Given the description of an element on the screen output the (x, y) to click on. 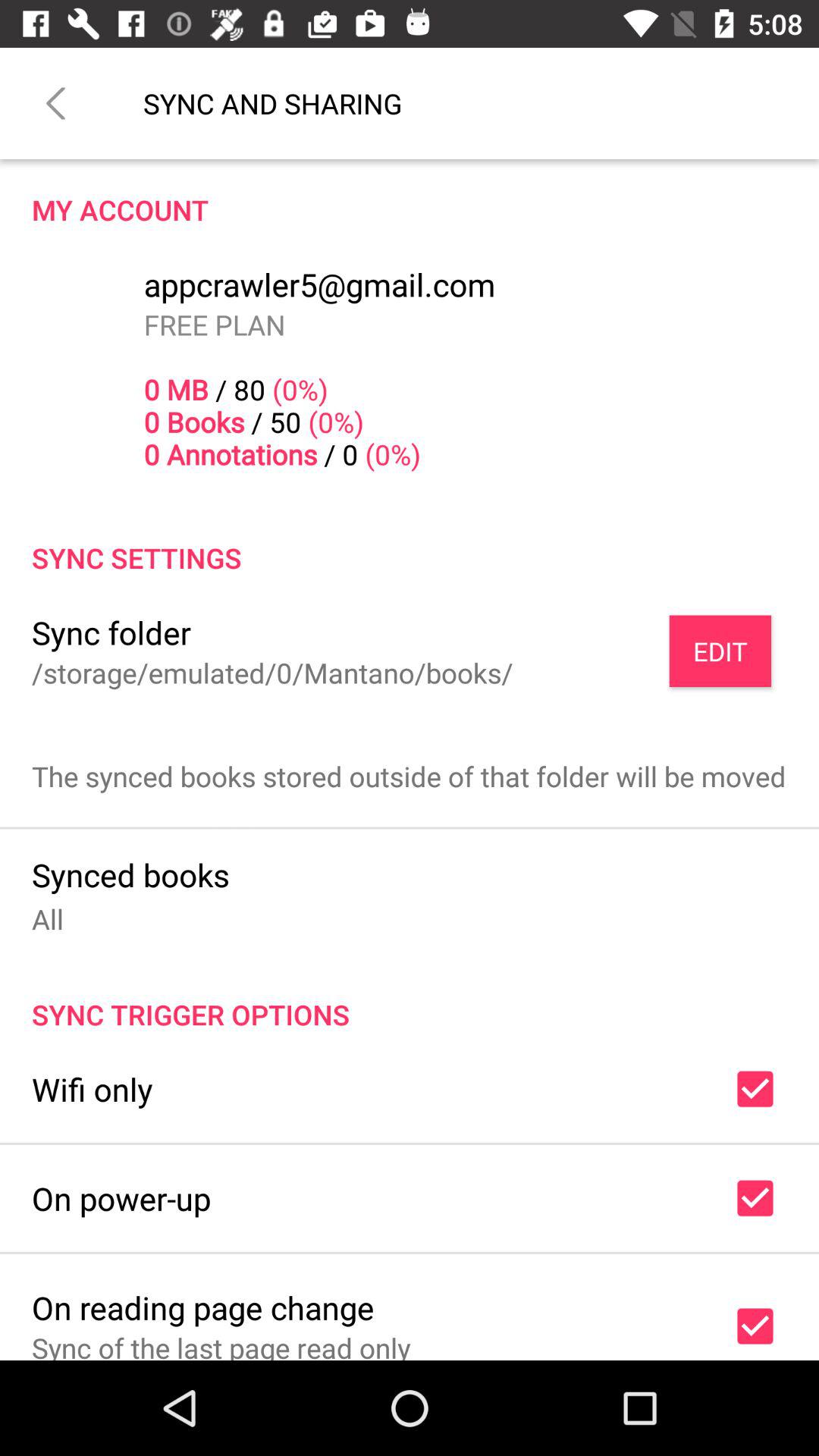
scroll to sync folder (111, 632)
